Given the description of an element on the screen output the (x, y) to click on. 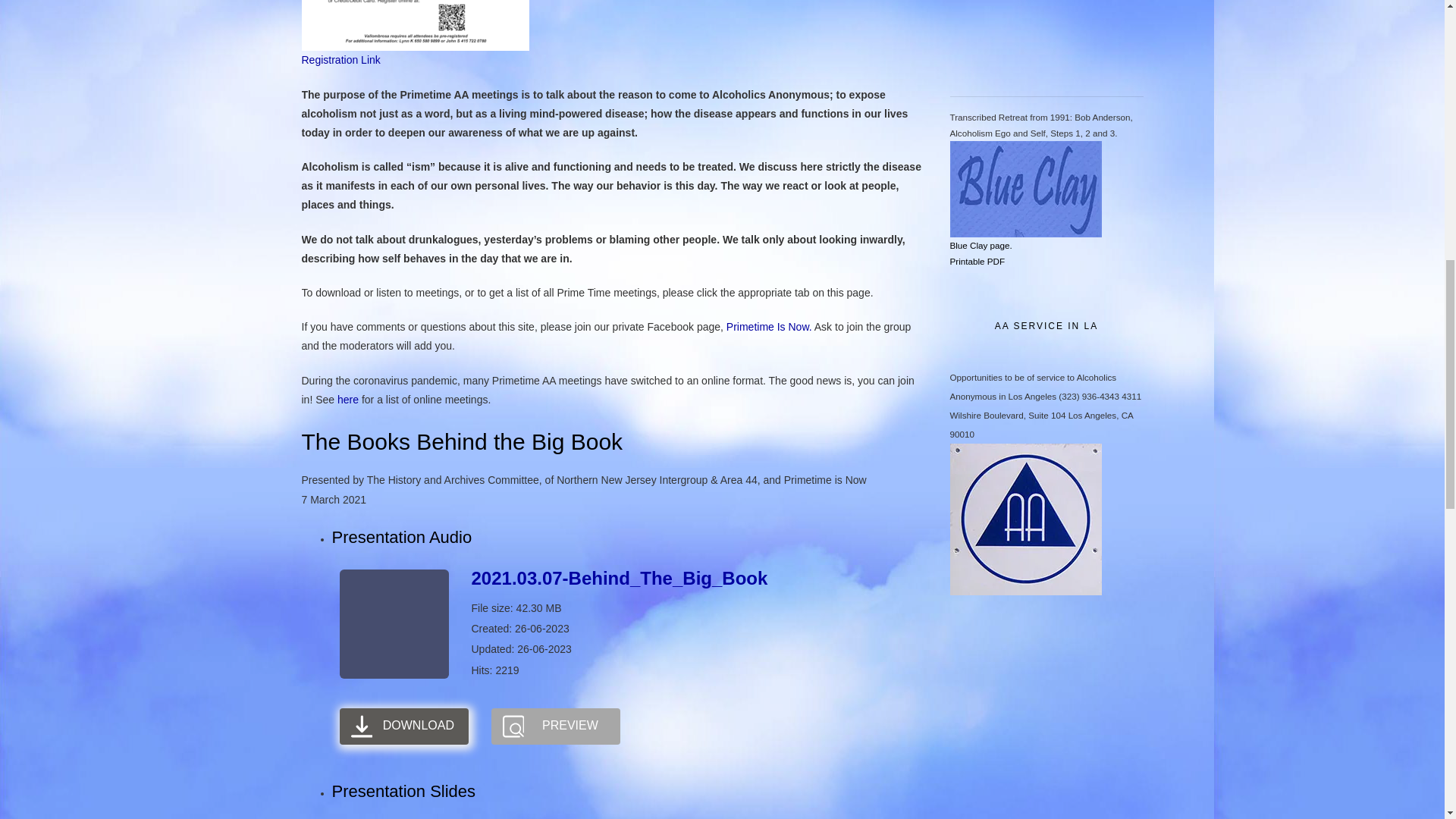
Primetime Is Now. (769, 326)
here (347, 399)
Registration Link (340, 60)
DOWNLOAD (403, 726)
PREVIEW (556, 726)
